Given the description of an element on the screen output the (x, y) to click on. 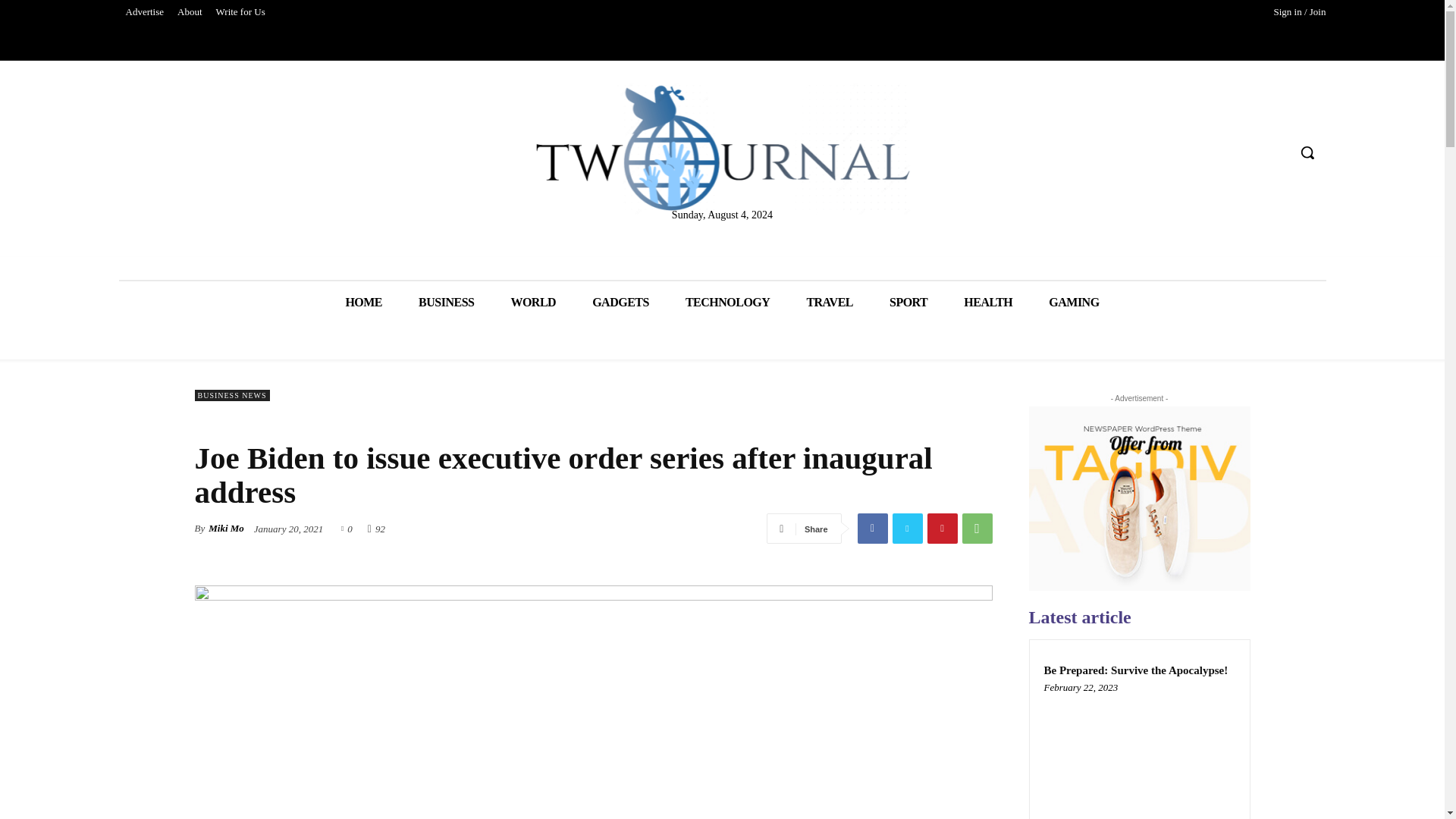
WORLD (532, 301)
SPORT (907, 301)
WhatsApp (975, 528)
GADGETS (619, 301)
GAMING (1073, 301)
Twitter (906, 528)
Write for Us (240, 12)
About (189, 12)
TECHNOLOGY (726, 301)
Advertise (143, 12)
HEALTH (987, 301)
HOME (363, 301)
Pinterest (941, 528)
Facebook (871, 528)
TRAVEL (828, 301)
